Given the description of an element on the screen output the (x, y) to click on. 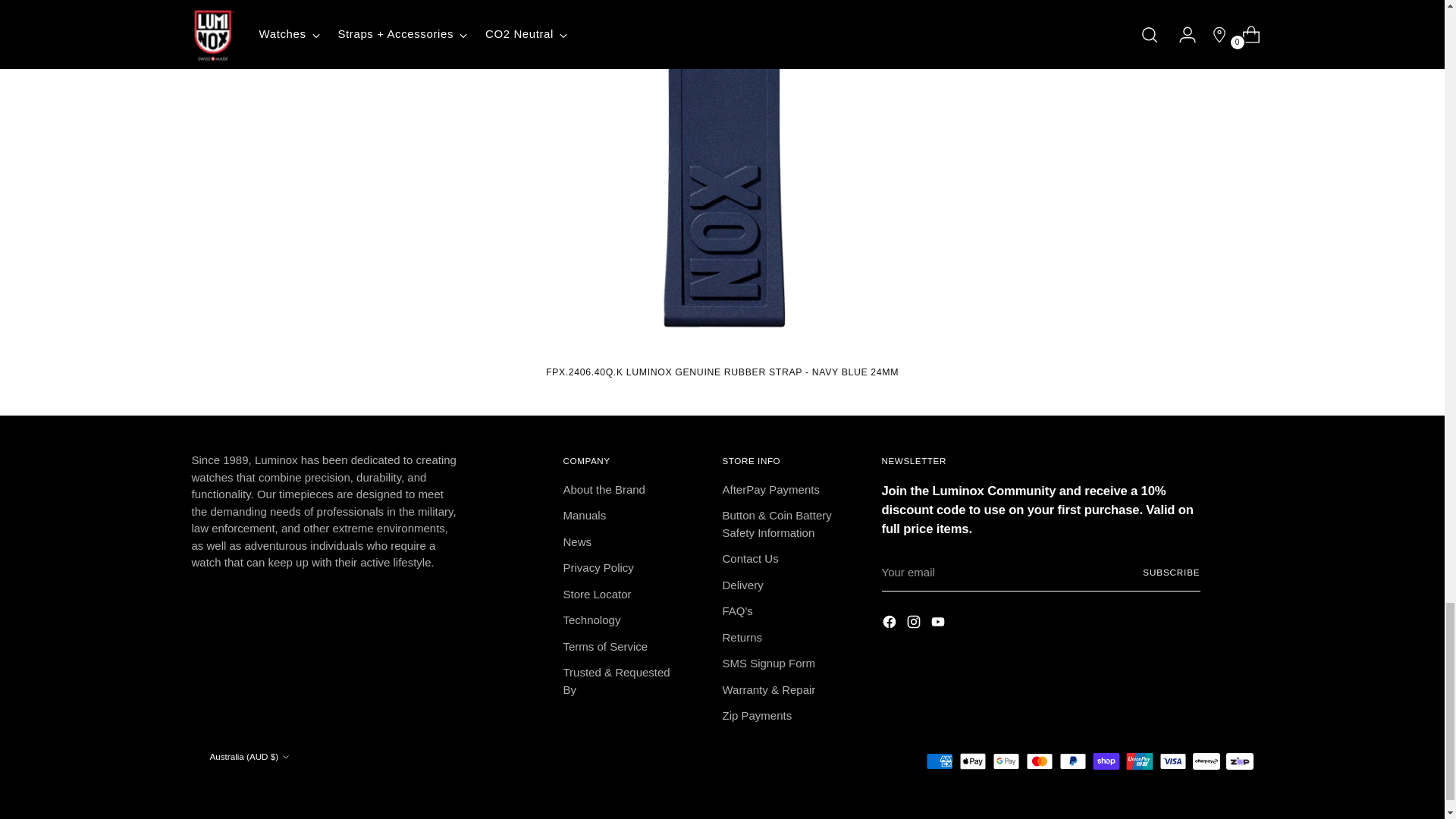
Luminox Australia on Instagram (914, 624)
